Given the description of an element on the screen output the (x, y) to click on. 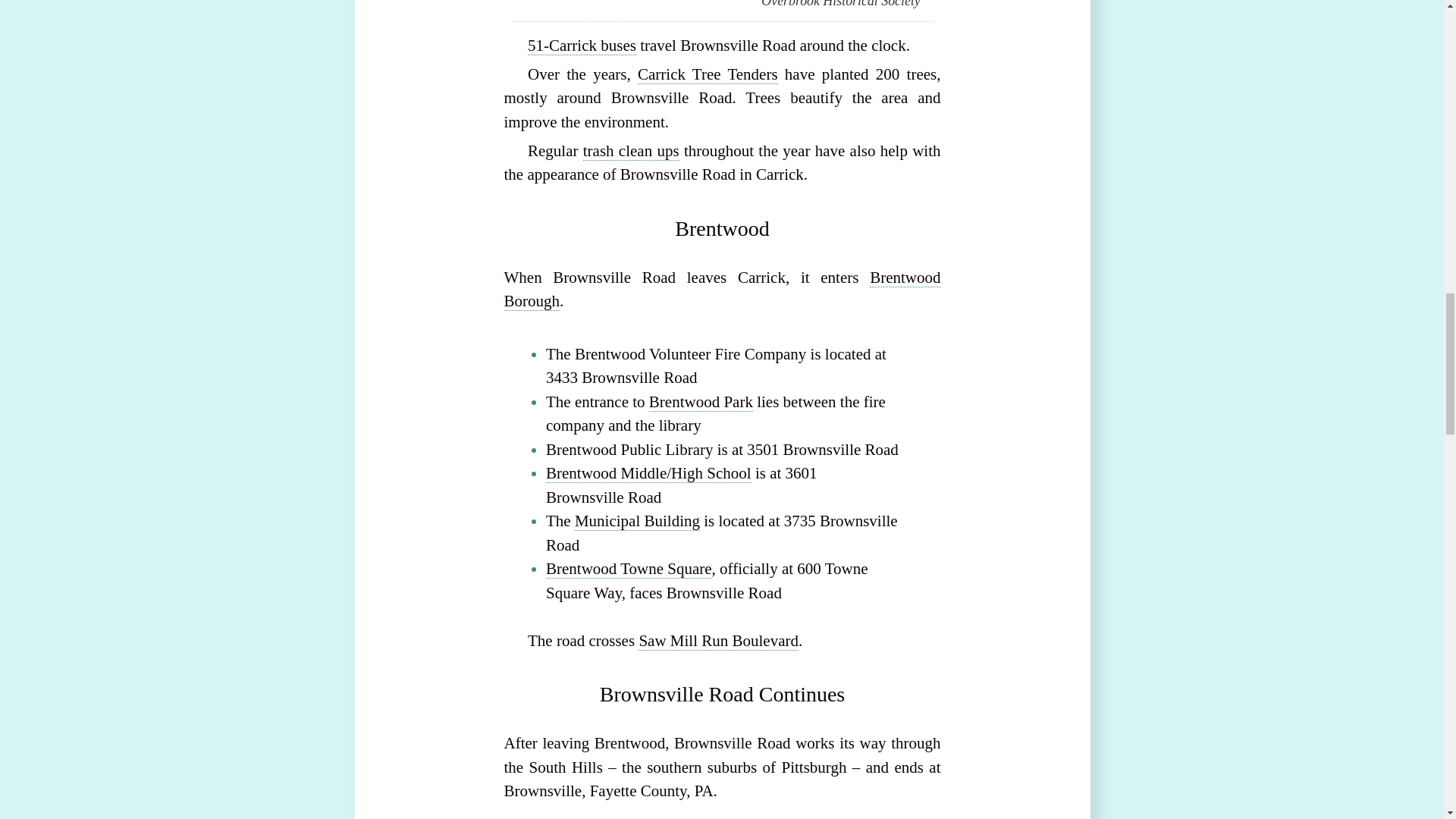
Saw Mill Run Boulevard (718, 640)
Municipal Building (637, 520)
Carrick Tree Tenders (707, 74)
51-Carrick buses (581, 45)
Brentwood Park (700, 402)
Brentwood Borough (721, 290)
Brentwood Towne Square (628, 568)
trash clean ups (631, 150)
Carrick-Overbrook Historical Society (840, 4)
